Given the description of an element on the screen output the (x, y) to click on. 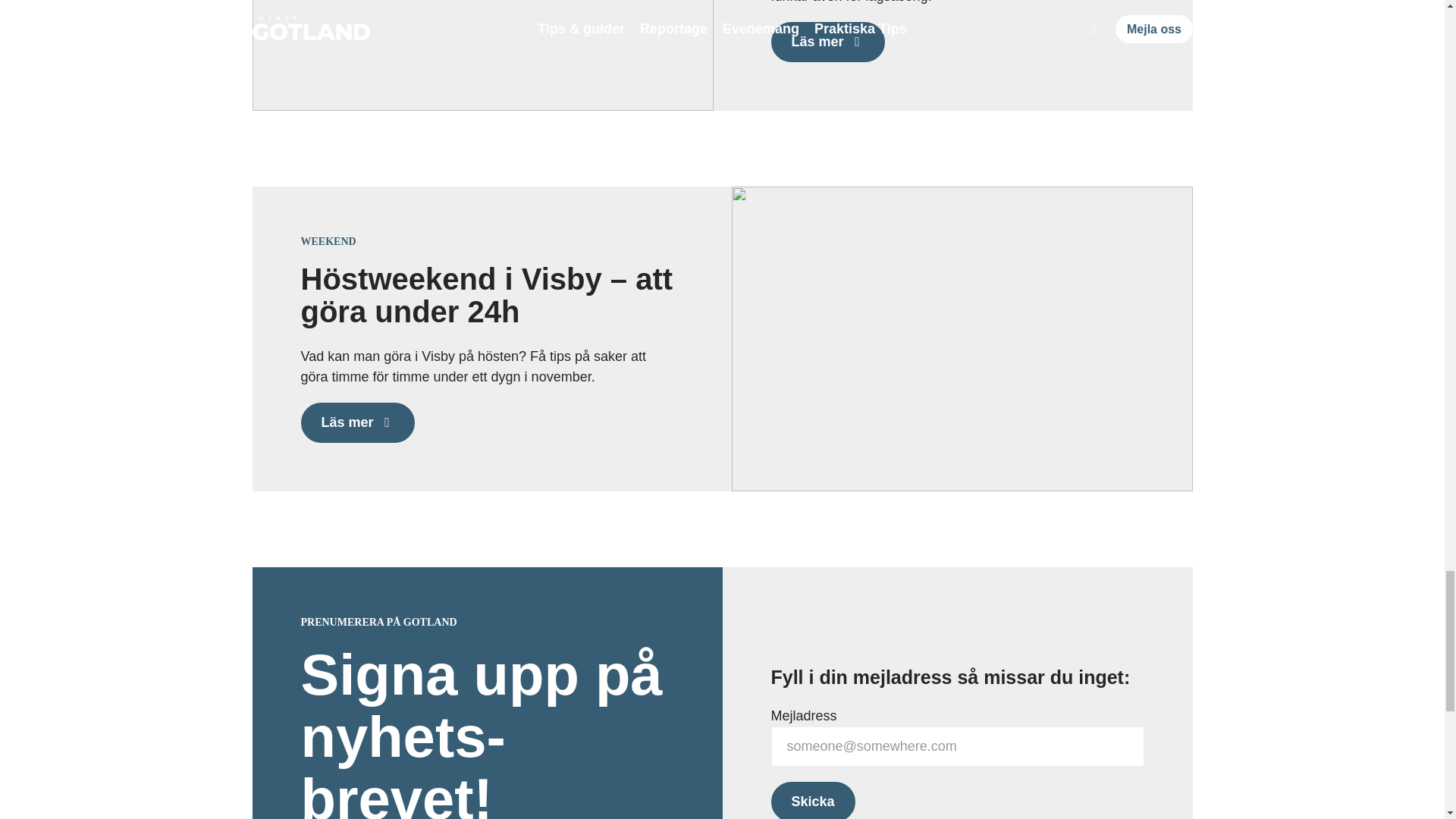
Skicka (812, 800)
